Given the description of an element on the screen output the (x, y) to click on. 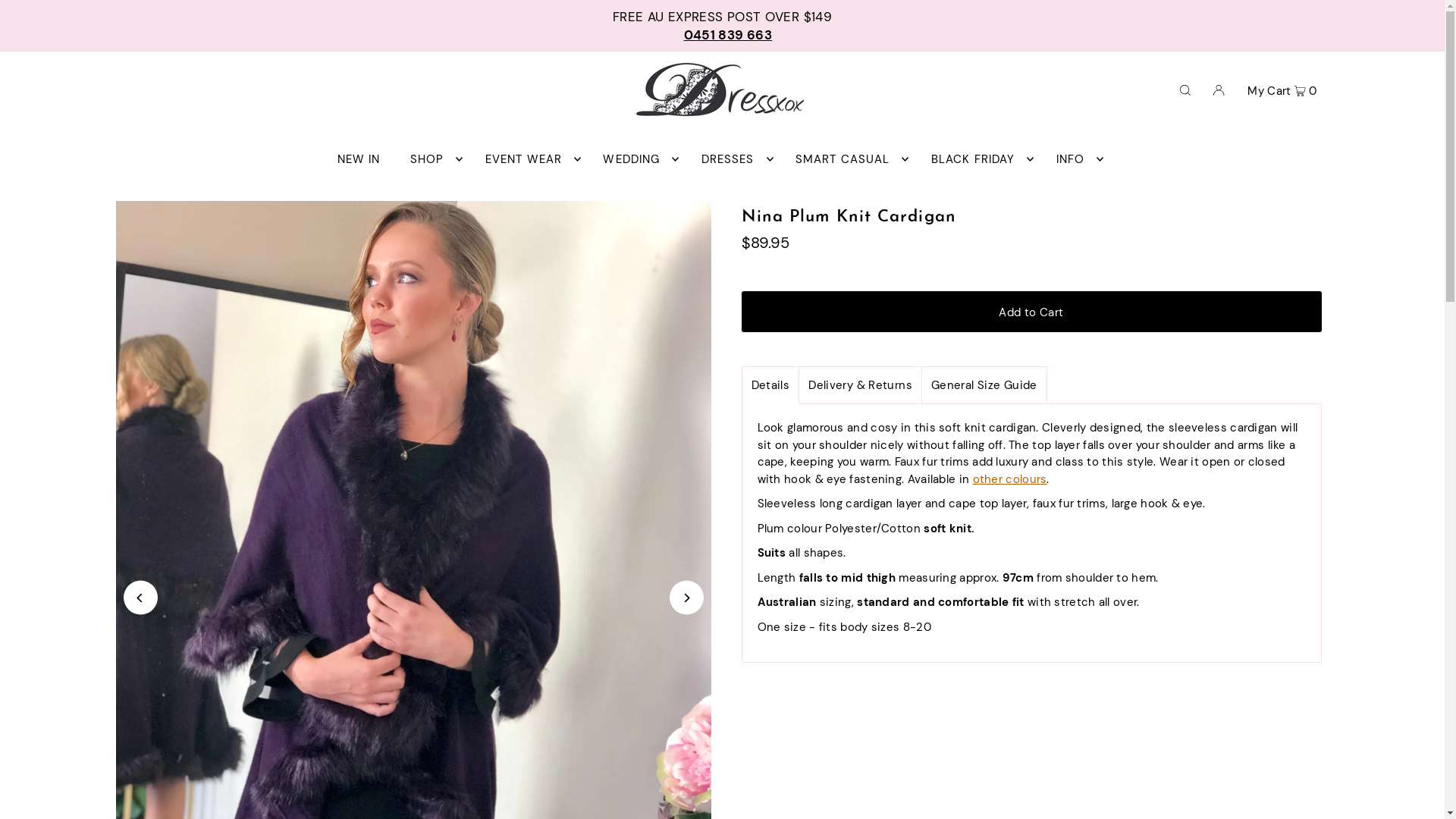
WEDDING Element type: text (636, 159)
other colours Element type: text (1009, 478)
0451 839 663 Element type: text (728, 34)
SMART CASUAL Element type: text (848, 159)
SHOP Element type: text (432, 159)
NEW IN Element type: text (358, 159)
DRESSES Element type: text (733, 159)
Add to Cart Element type: text (1031, 311)
INFO Element type: text (1076, 159)
EVENT WEAR Element type: text (528, 159)
BLACK FRIDAY Element type: text (978, 159)
